Given the description of an element on the screen output the (x, y) to click on. 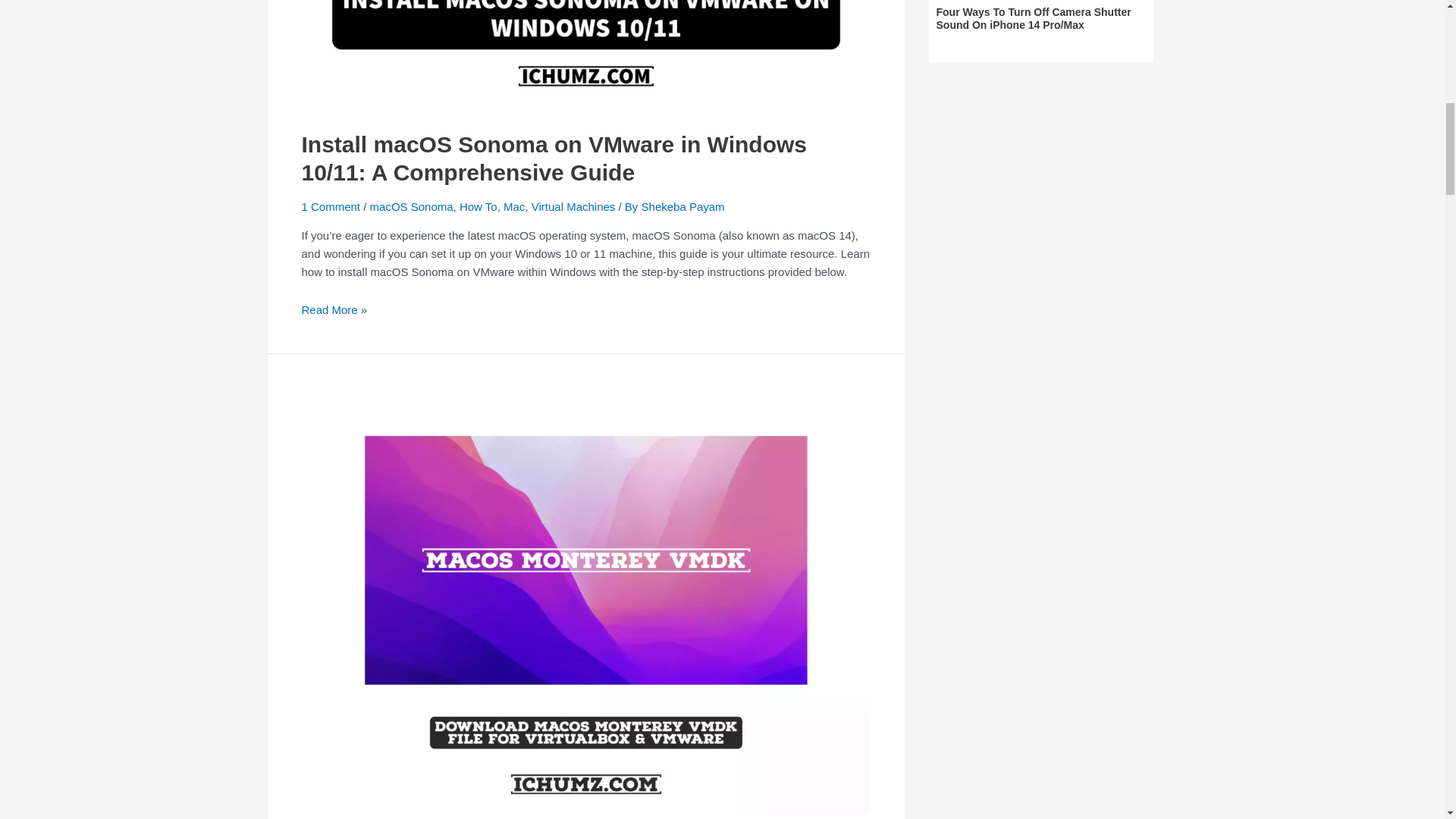
1 Comment (331, 205)
macOS Sonoma (410, 205)
View all posts by Shekeba Payam (683, 205)
Mac (513, 205)
How To (478, 205)
Shekeba Payam (683, 205)
Virtual Machines (573, 205)
